Given the description of an element on the screen output the (x, y) to click on. 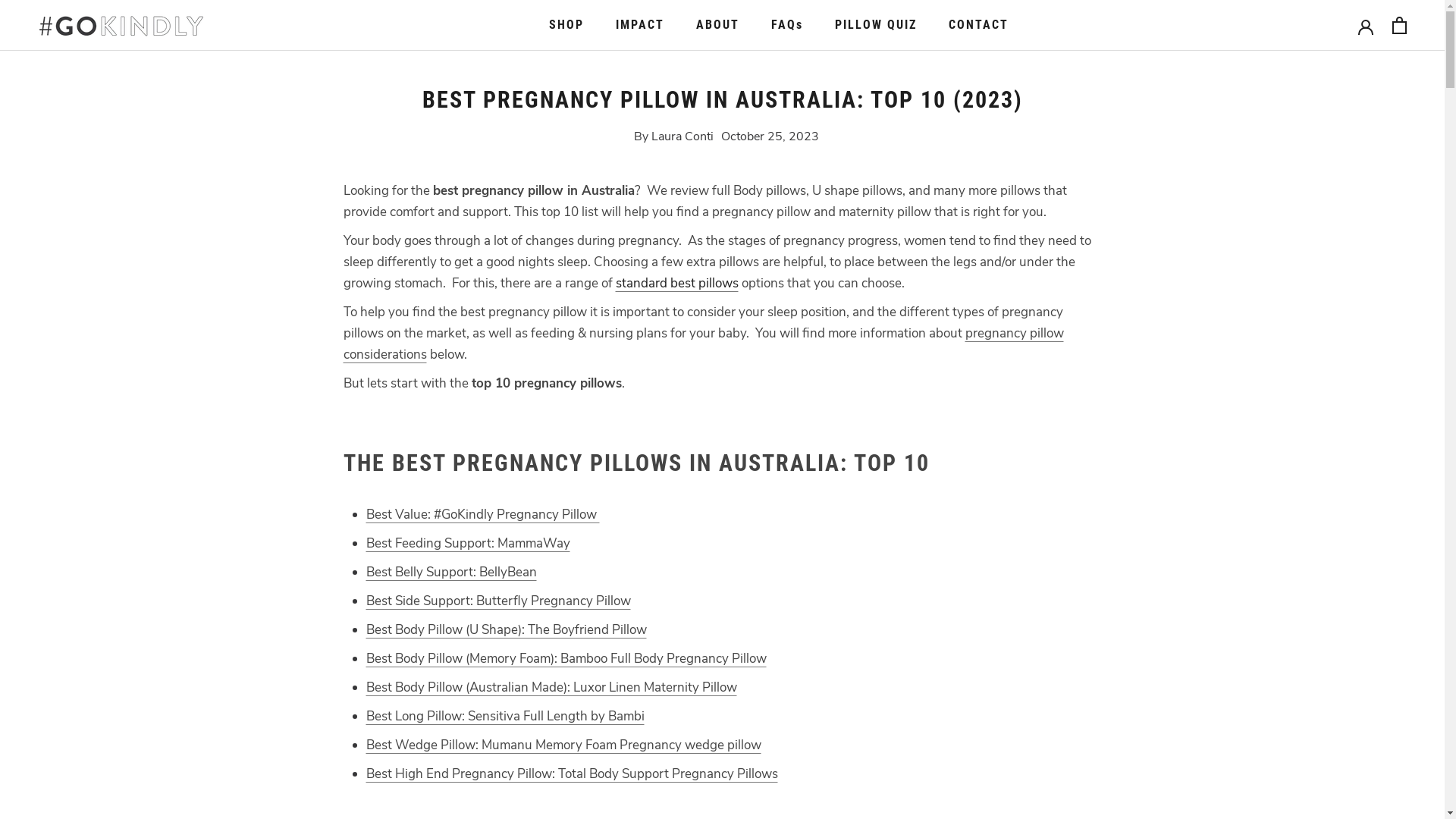
FAQs
FAQs Element type: text (787, 24)
PILLOW QUIZ
PILLOW QUIZ Element type: text (875, 24)
Best Side Support: Butterfly Pregnancy Pillow Element type: text (497, 600)
By Laura Conti Element type: text (673, 135)
Best Value: #GoKindly Pregnancy Pillow Element type: text (482, 514)
Best Body Pillow (U Shape): The Boyfriend Pillow Element type: text (505, 629)
Best Feeding Support: MammaWay Element type: text (467, 543)
ABOUT Element type: text (717, 24)
pregnancy pillow considerations Element type: text (702, 343)
Best Long Pillow: Sensitiva Full Length by Bambi Element type: text (504, 715)
IMPACT
IMPACT Element type: text (639, 24)
Best Belly Support: BellyBean Element type: text (450, 571)
standard best pillows Element type: text (676, 282)
Best Wedge Pillow: Mumanu Memory Foam Pregnancy wedge pillow Element type: text (562, 744)
CONTACT
CONTACT Element type: text (978, 24)
SHOP Element type: text (566, 24)
